Given the description of an element on the screen output the (x, y) to click on. 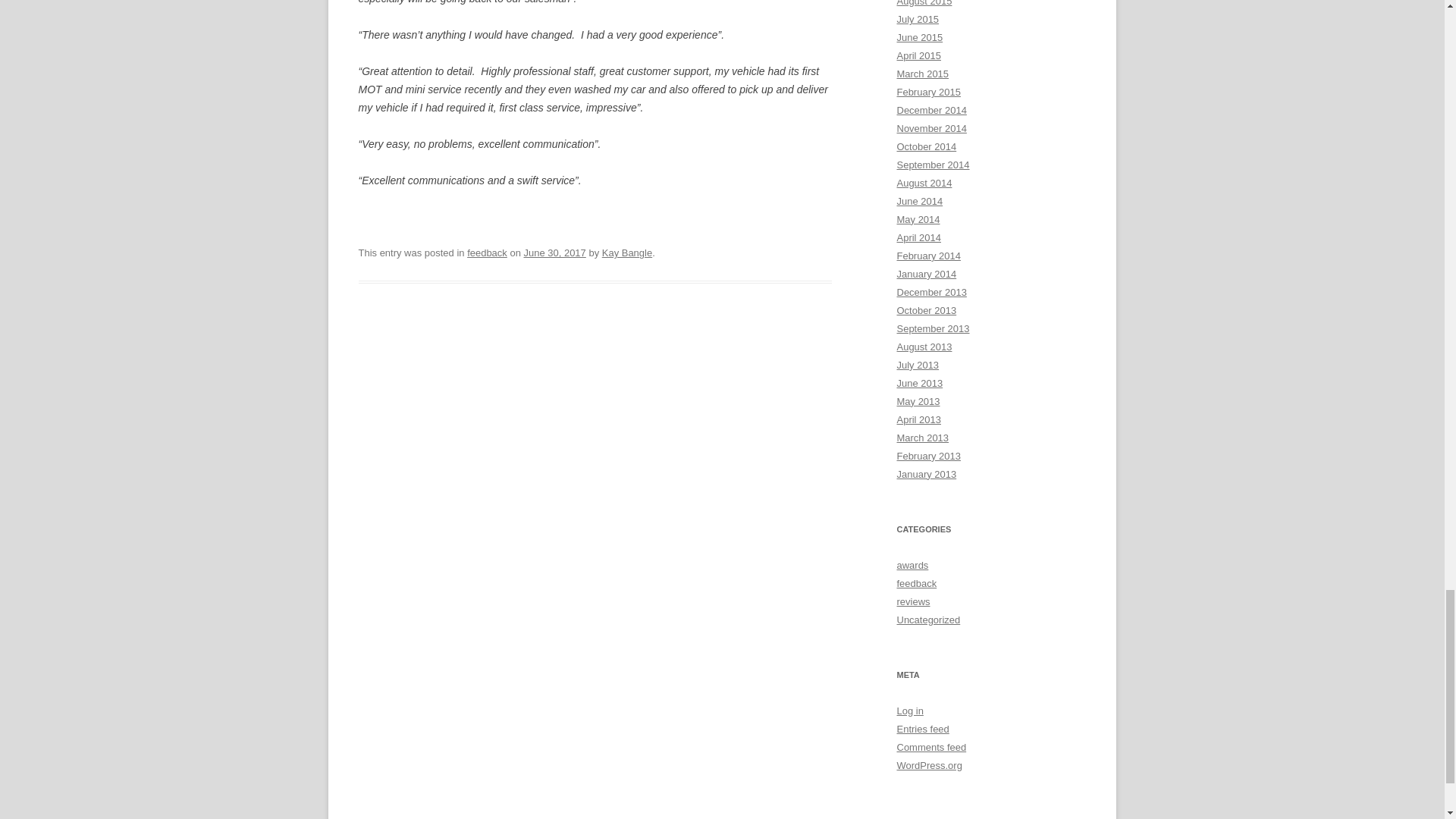
Kay Bangle (627, 252)
feedback (486, 252)
View all posts by Kay Bangle (627, 252)
9:48 am (553, 252)
June 30, 2017 (553, 252)
